Given the description of an element on the screen output the (x, y) to click on. 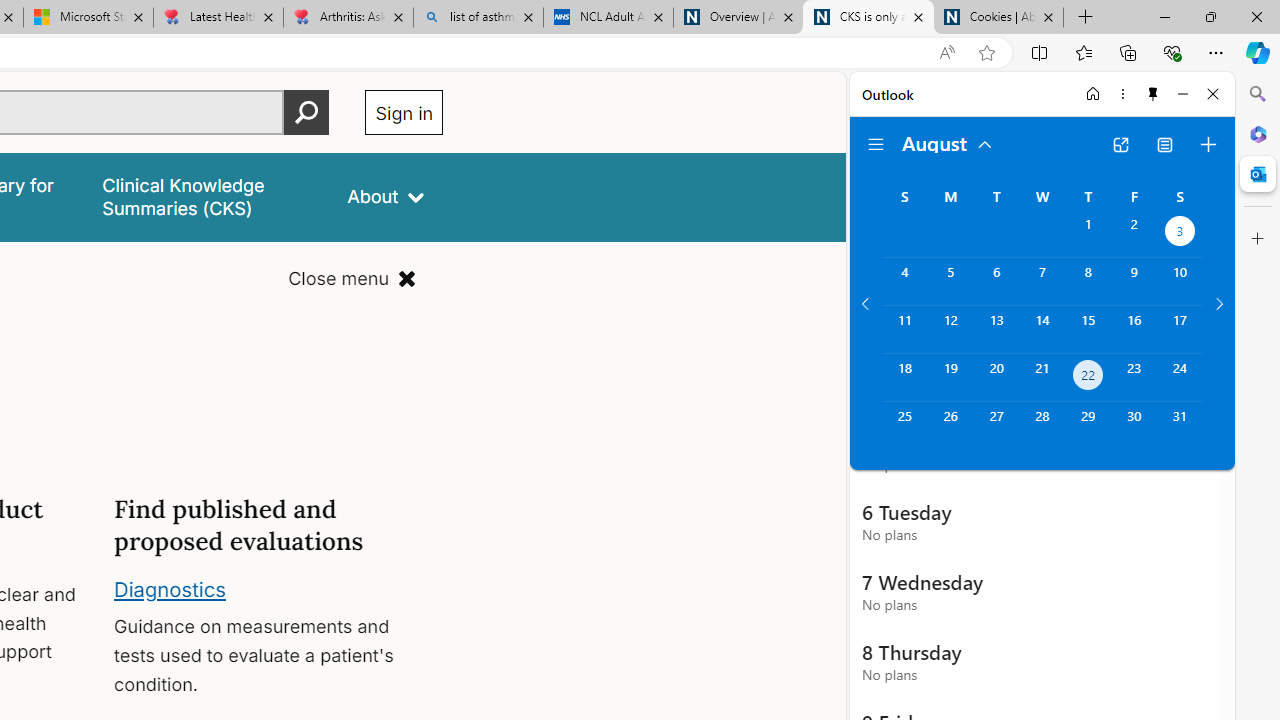
Friday, August 2, 2024.  (1134, 233)
Diagnostics (169, 588)
Saturday, August 10, 2024.  (1180, 281)
Sunday, August 11, 2024.  (904, 329)
Saturday, August 24, 2024.  (1180, 377)
Saturday, August 31, 2024.  (1180, 425)
Saturday, August 3, 2024. Date selected.  (1180, 233)
Thursday, August 8, 2024.  (1088, 281)
Thursday, August 1, 2024.  (1088, 233)
Thursday, August 29, 2024.  (1088, 425)
